Given the description of an element on the screen output the (x, y) to click on. 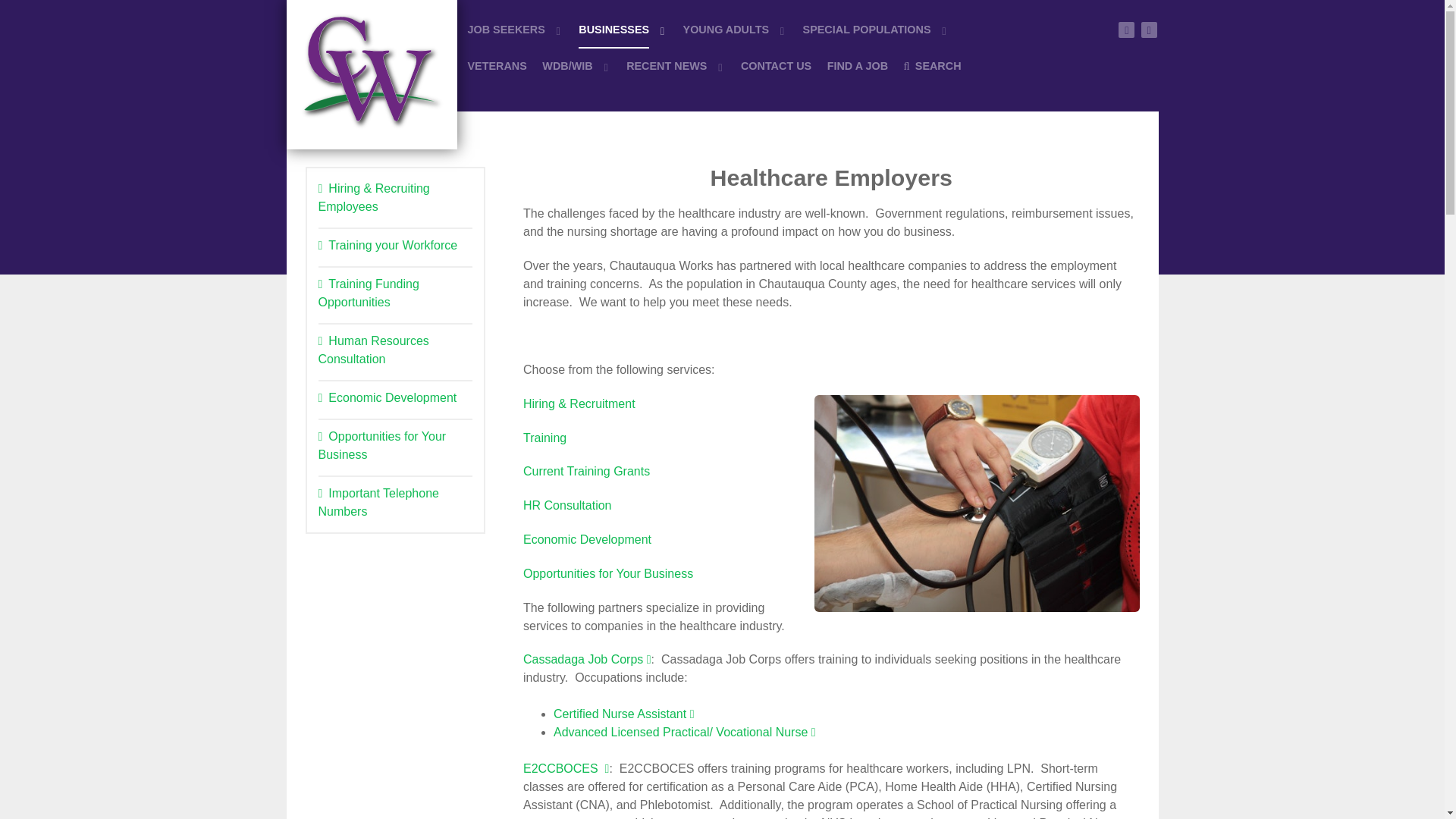
BUSINESSES (622, 29)
JOB SEEKERS (514, 29)
YOUNG ADULTS (734, 29)
VETERANS (496, 65)
SPECIAL POPULATIONS (876, 29)
